Given the description of an element on the screen output the (x, y) to click on. 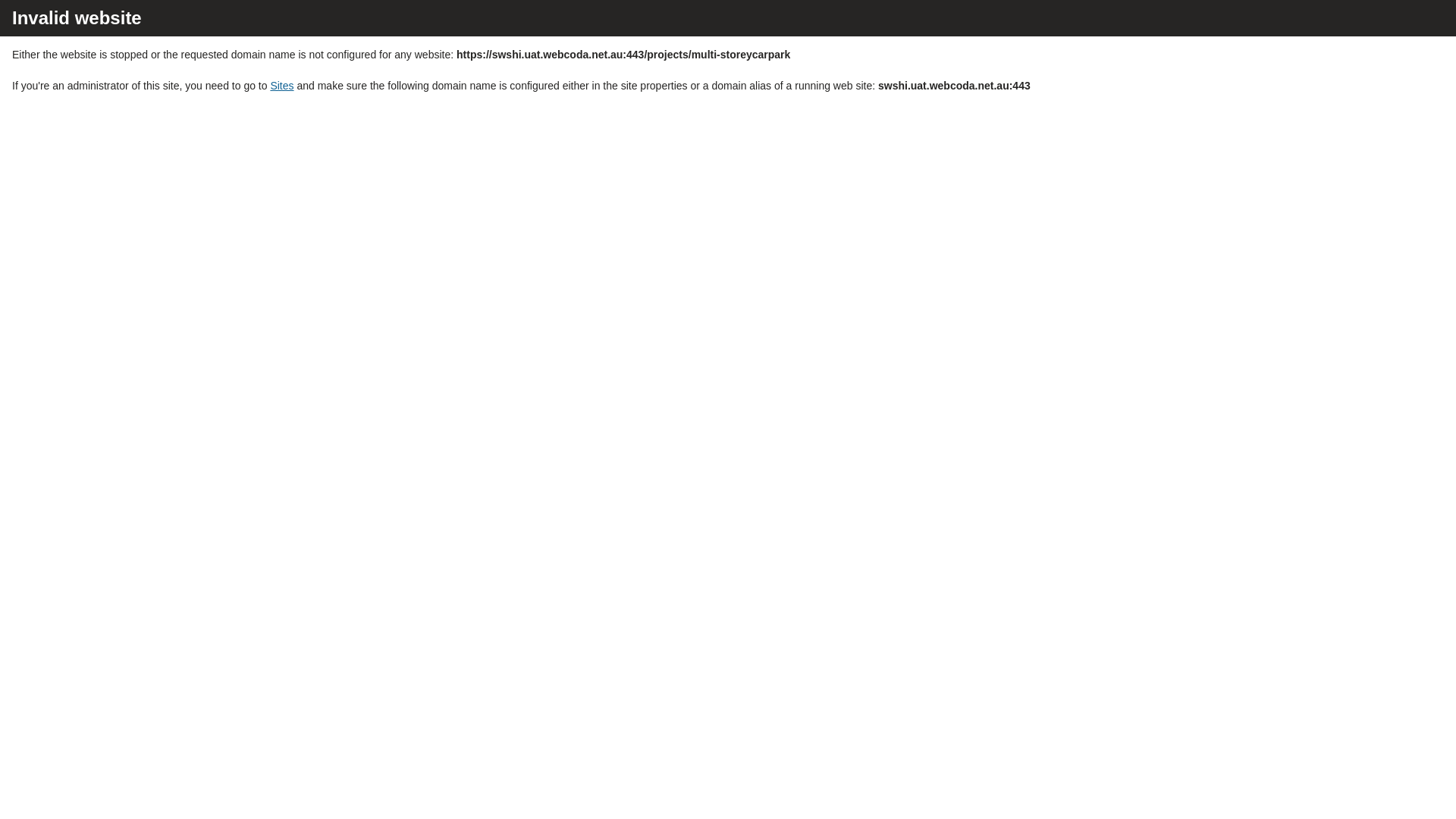
Sites Element type: text (281, 85)
